Given the description of an element on the screen output the (x, y) to click on. 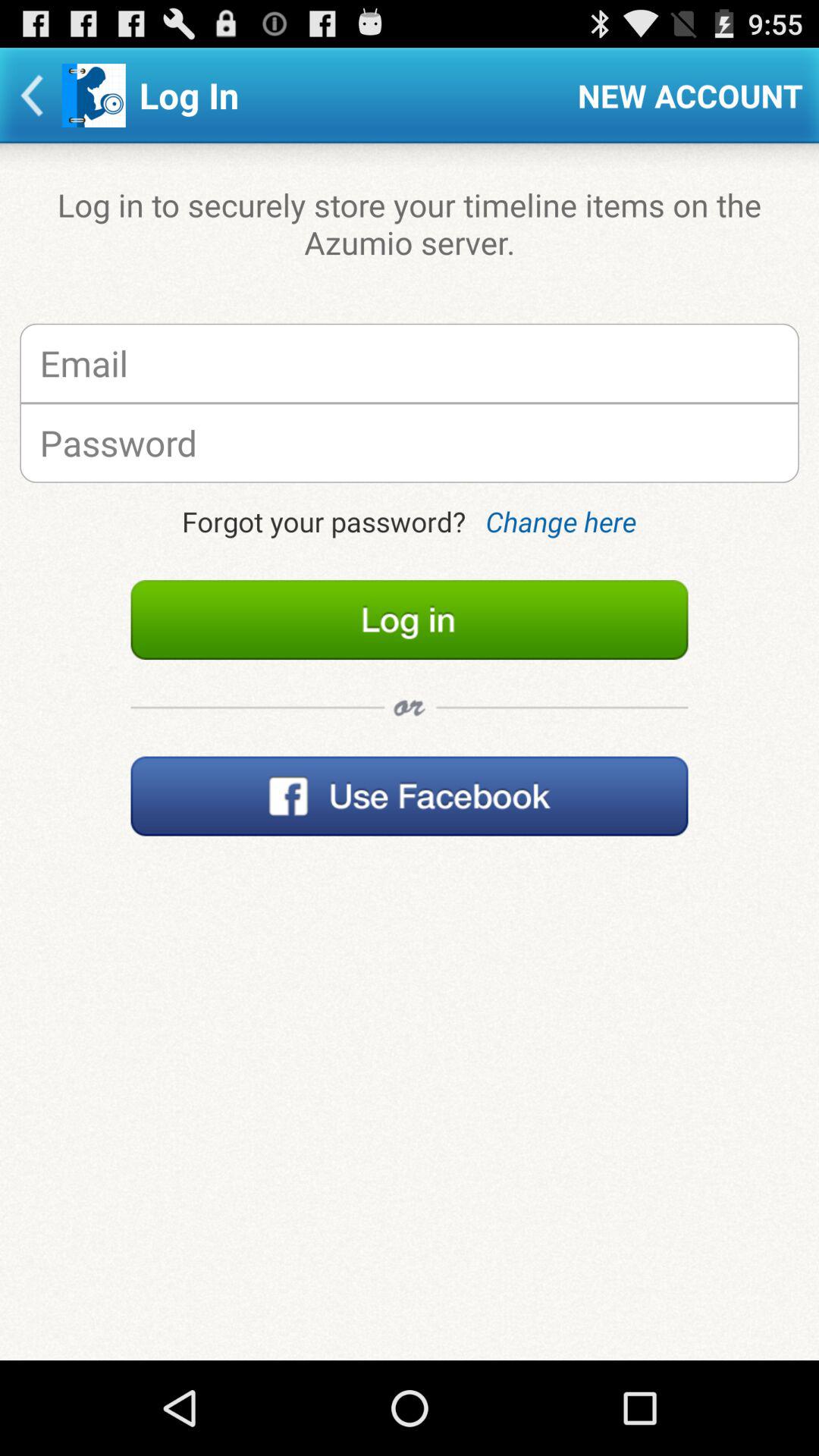
turn off item below the forgot your password? icon (409, 619)
